Given the description of an element on the screen output the (x, y) to click on. 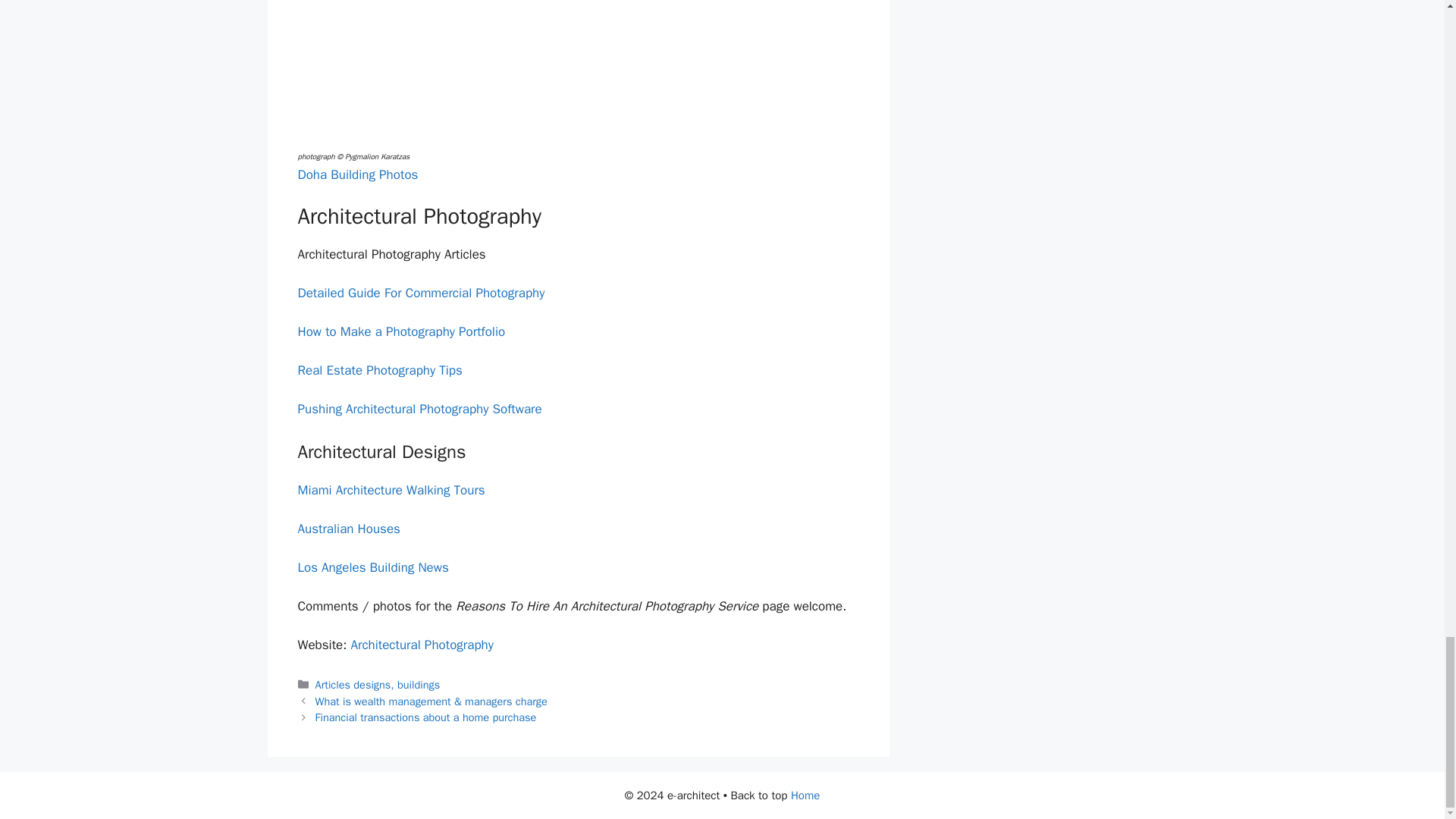
Australian Houses (347, 528)
Detailed Guide For Commercial Photography (420, 293)
How to Make a Photography Portfolio (401, 331)
Miami Architecture Walking Tours (390, 489)
Doha Building Photos (357, 174)
Real Estate Photography Tips (379, 370)
Pushing Architectural Photography Software (419, 408)
